Given the description of an element on the screen output the (x, y) to click on. 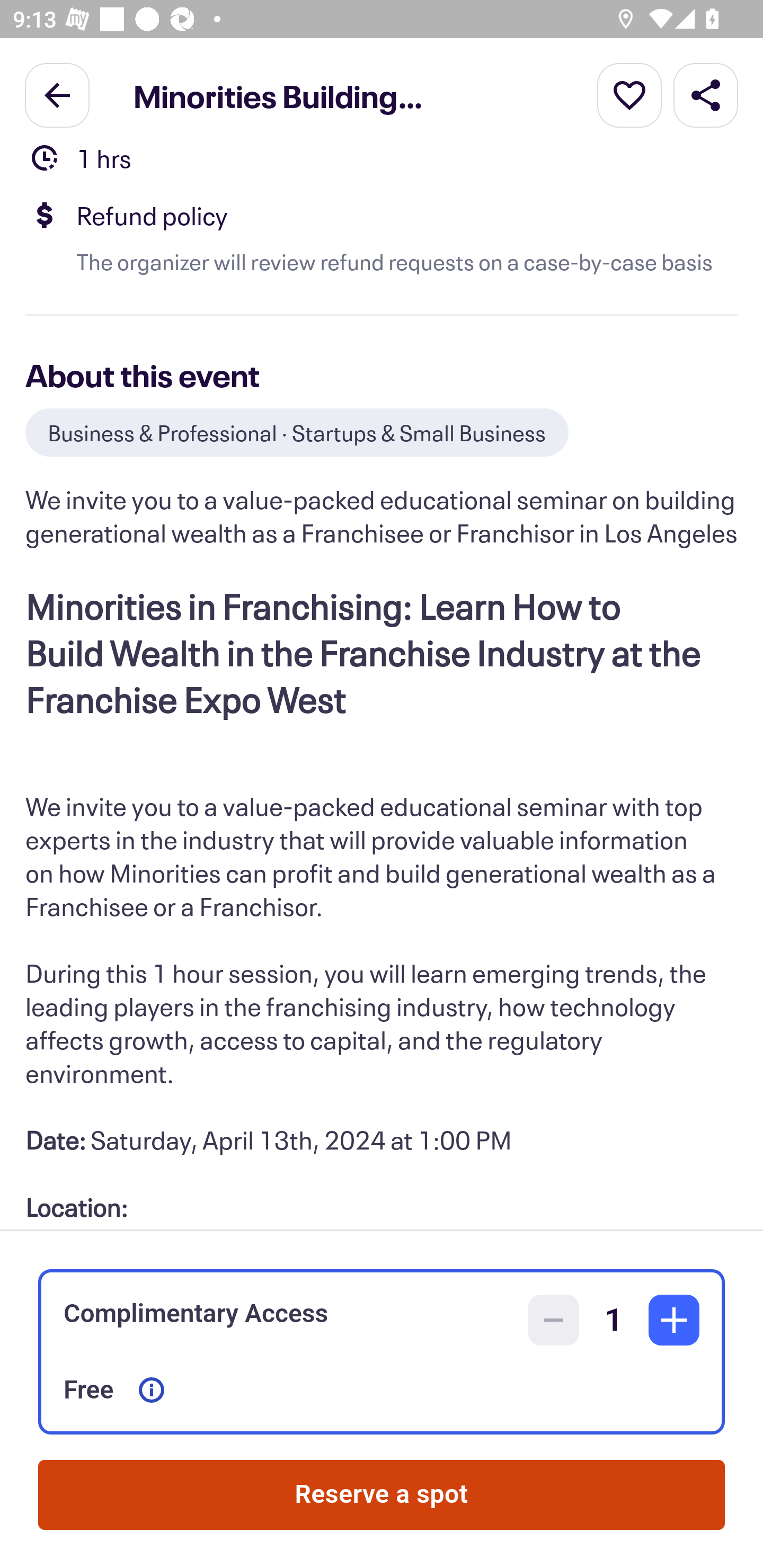
Back (57, 94)
More (629, 94)
Share (705, 94)
Decrease (553, 1320)
Increase (673, 1320)
Show more information (151, 1389)
Reserve a spot (381, 1494)
